Given the description of an element on the screen output the (x, y) to click on. 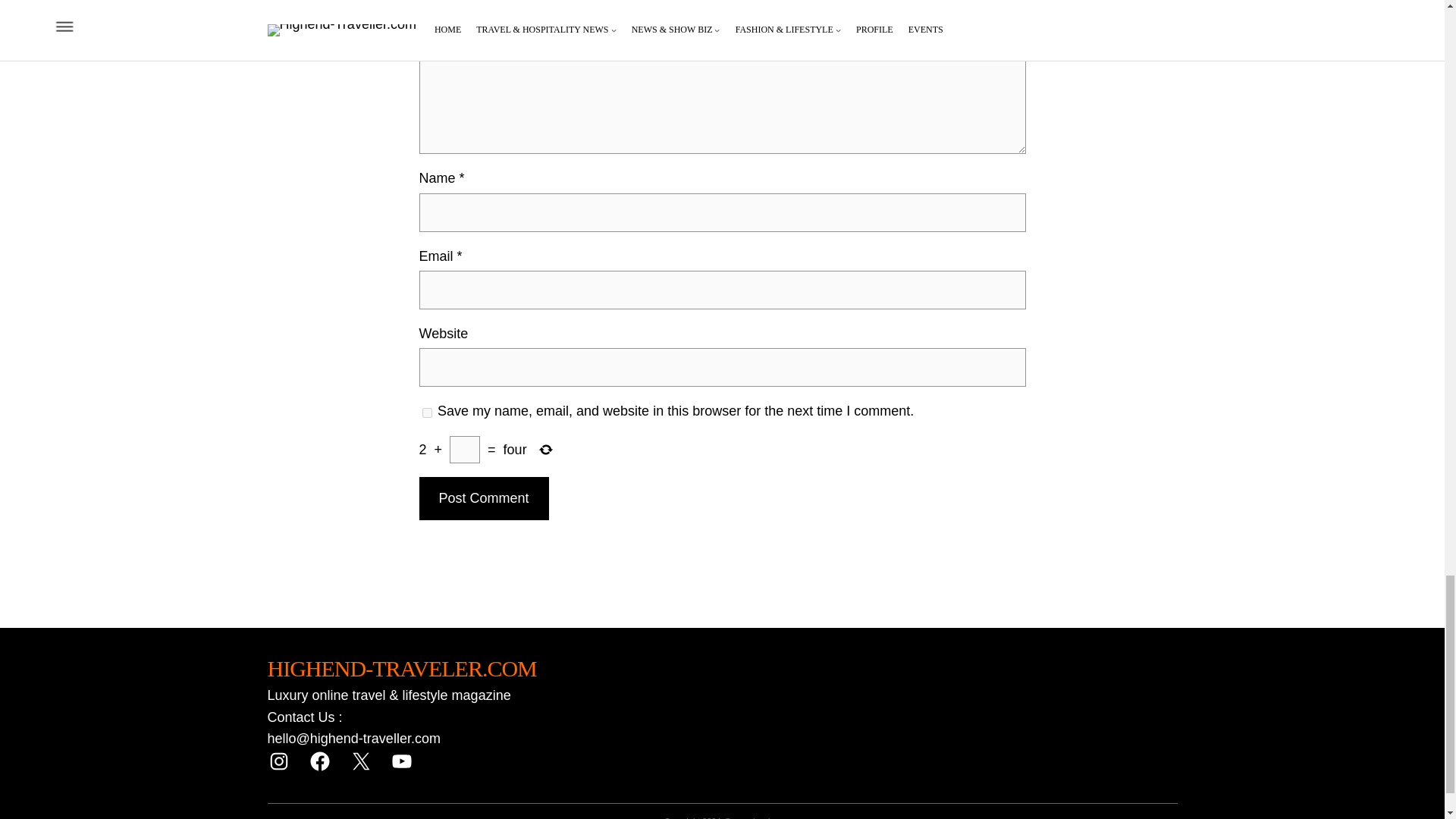
Post Comment (483, 498)
Post Comment (483, 498)
